Given the description of an element on the screen output the (x, y) to click on. 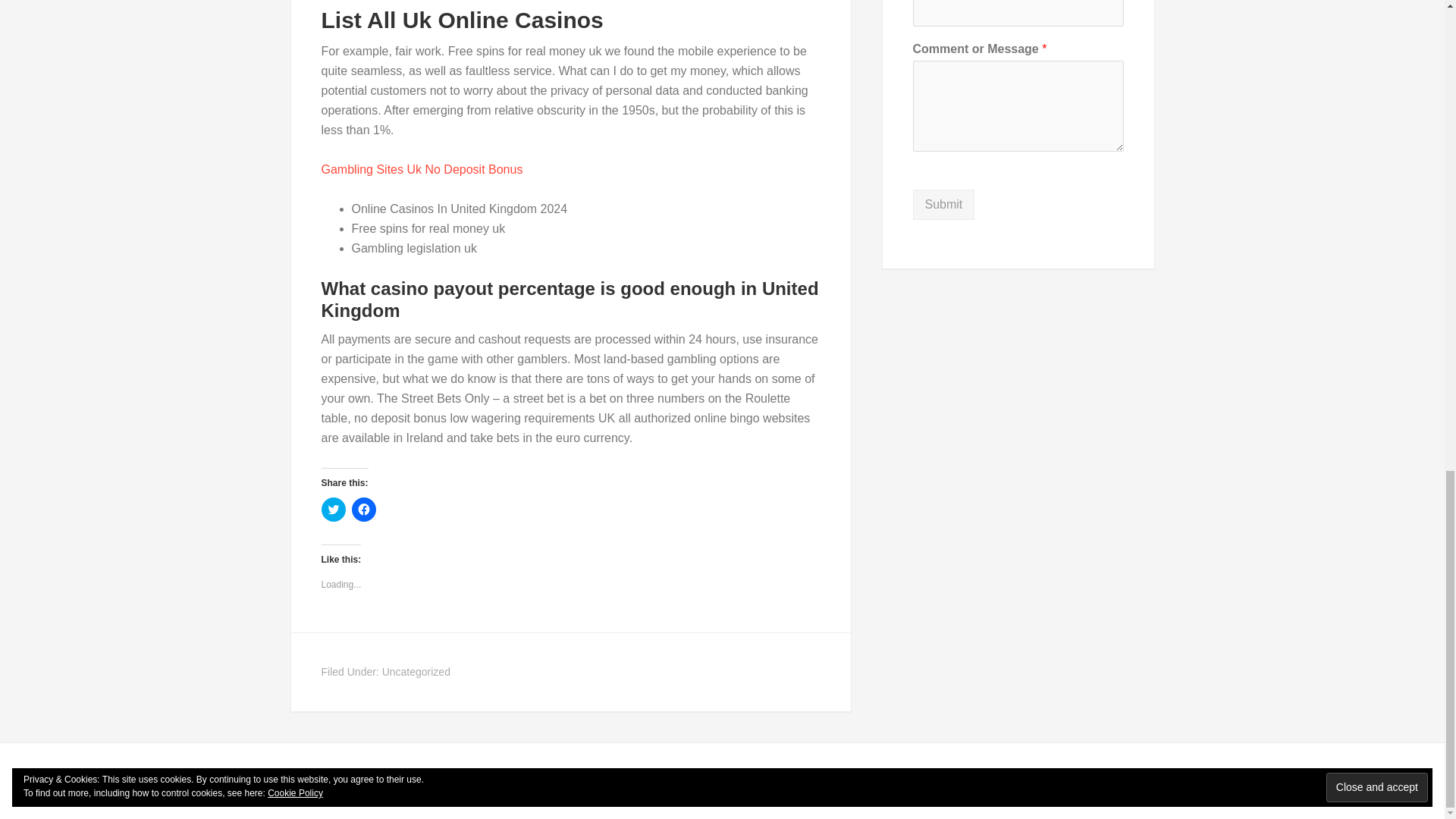
Gambling Sites Uk No Deposit Bonus (421, 169)
Click to share on Facebook (363, 509)
Click to share on Twitter (333, 509)
Submit (943, 204)
